Given the description of an element on the screen output the (x, y) to click on. 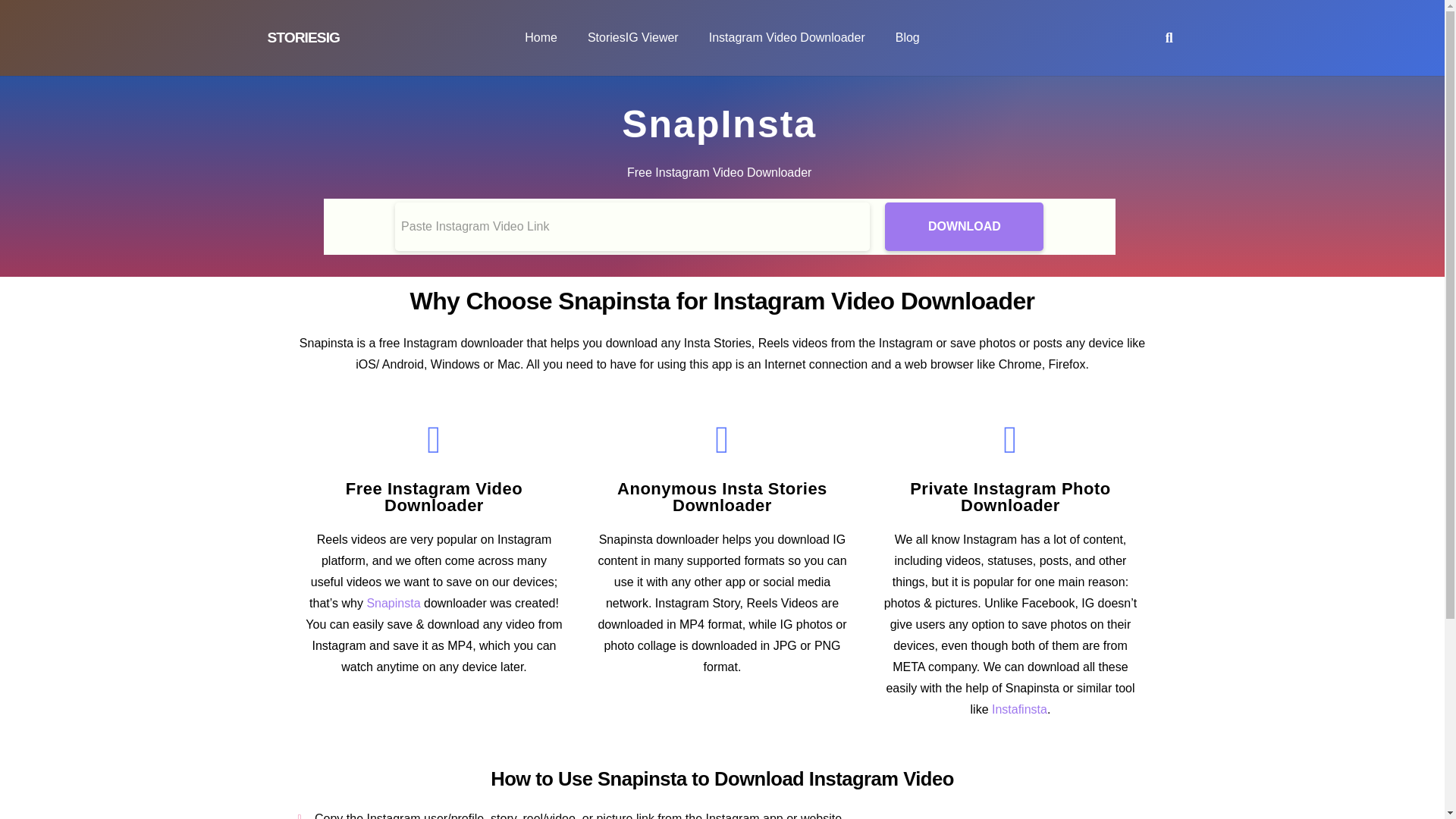
Privacy Policy (707, 719)
Contact Us (804, 719)
Instafinsta (1018, 708)
About (626, 719)
Download (964, 226)
Download (964, 226)
Snapinsta (393, 603)
STORIESIG (302, 37)
StoriesIG Viewer (633, 38)
Instagram Video Downloader (787, 38)
